Given the description of an element on the screen output the (x, y) to click on. 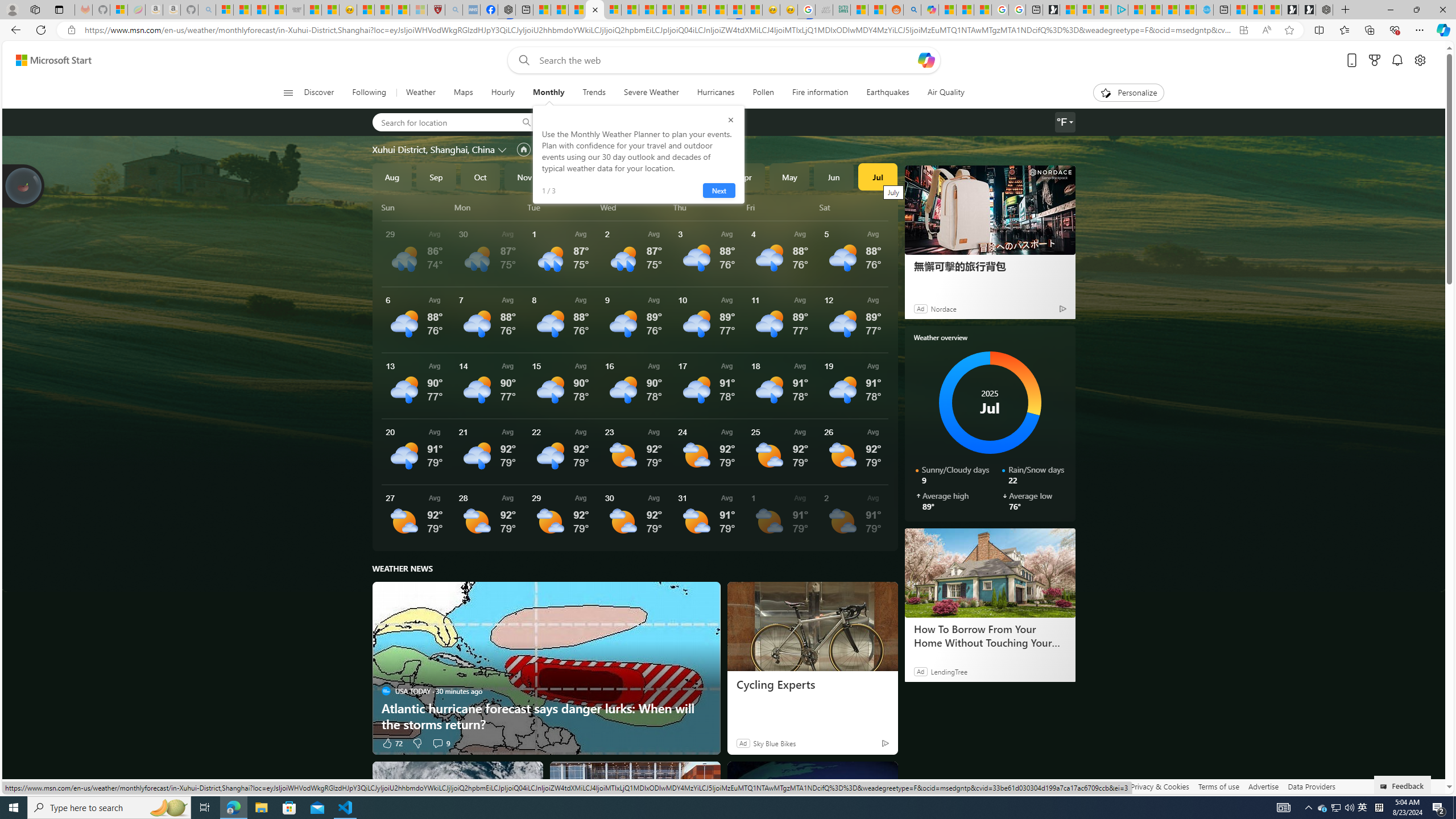
Thu (707, 207)
Fri (780, 207)
Mar (700, 176)
Microsoft rewards (1374, 60)
Apr (745, 176)
Home | Sky Blue Bikes - Sky Blue Bikes (1204, 9)
Class: button-glyph (287, 92)
